Given the description of an element on the screen output the (x, y) to click on. 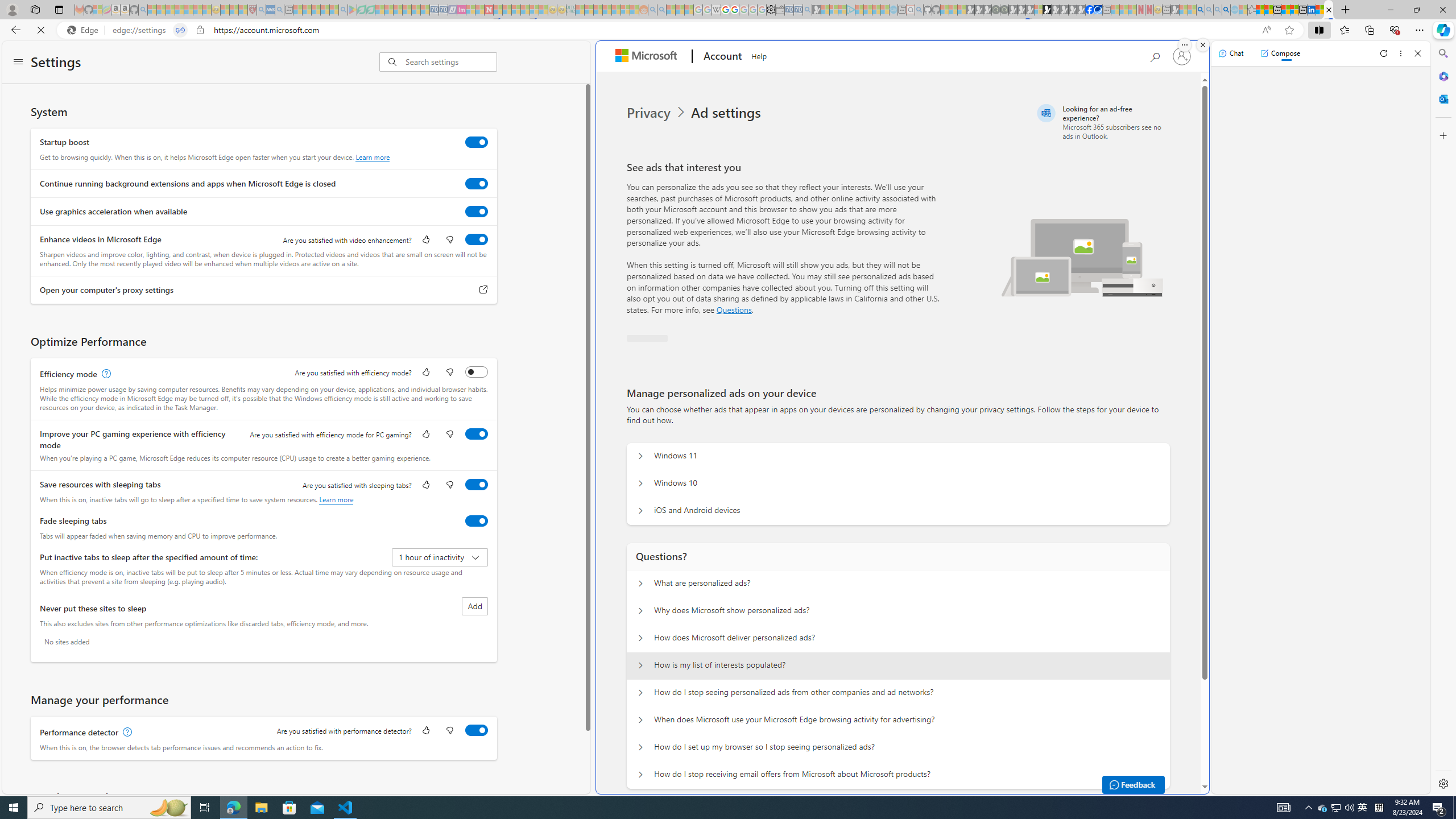
Performance detector, learn more (126, 732)
Future Focus Report 2024 - Sleeping (1004, 9)
Settings menu (18, 62)
MSN - Sleeping (1174, 9)
Questions? Why does Microsoft show personalized ads? (640, 610)
Ad settings (727, 112)
Favorites - Sleeping (1251, 9)
